Given the description of an element on the screen output the (x, y) to click on. 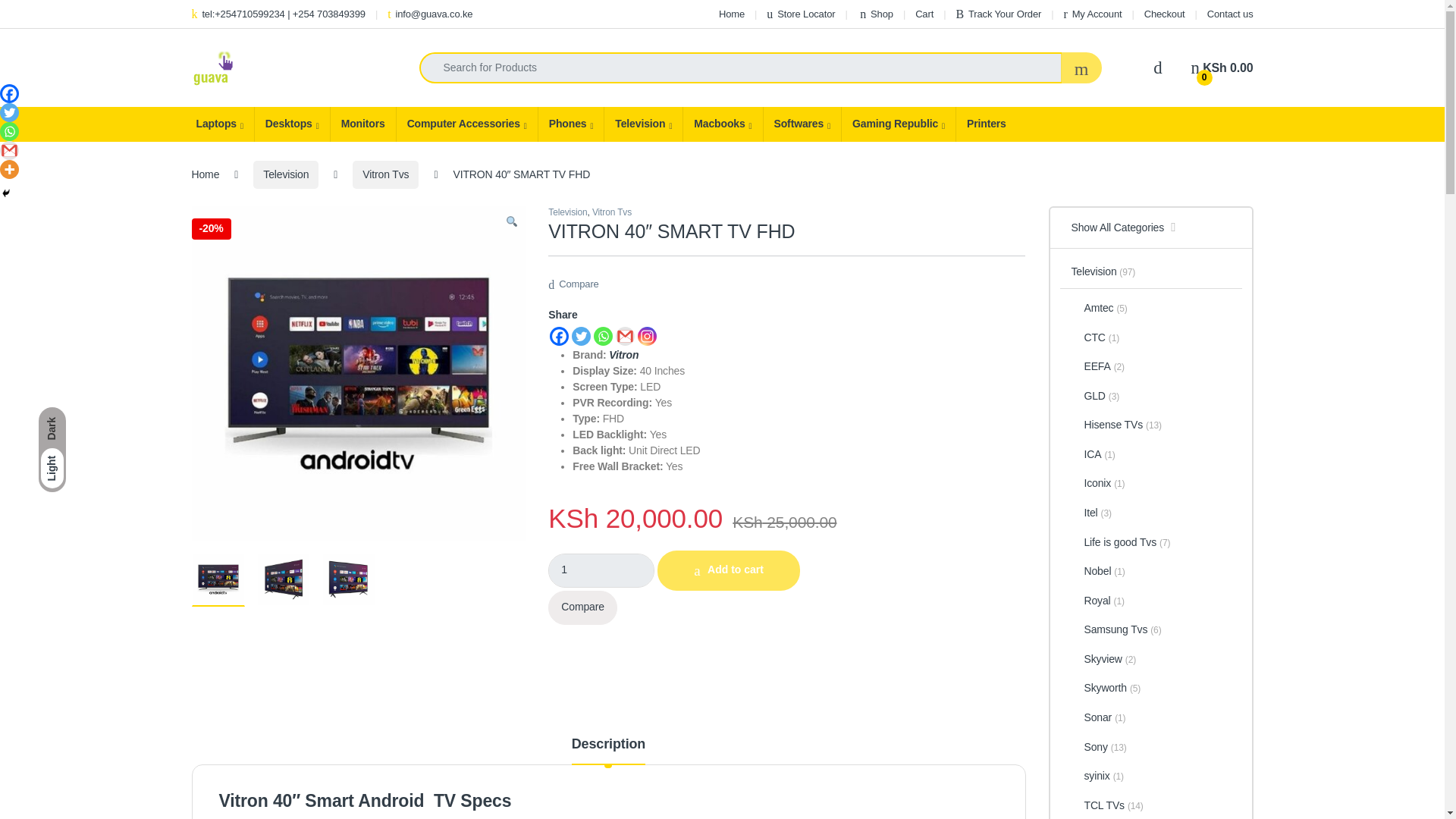
Home (731, 13)
Store Locator (800, 13)
My Account (1091, 13)
Checkout (1164, 13)
Contact us (1230, 13)
Contact us (1230, 13)
Shop (875, 13)
 Shop (875, 13)
Checkout (1164, 13)
Store Locator (800, 13)
